Given the description of an element on the screen output the (x, y) to click on. 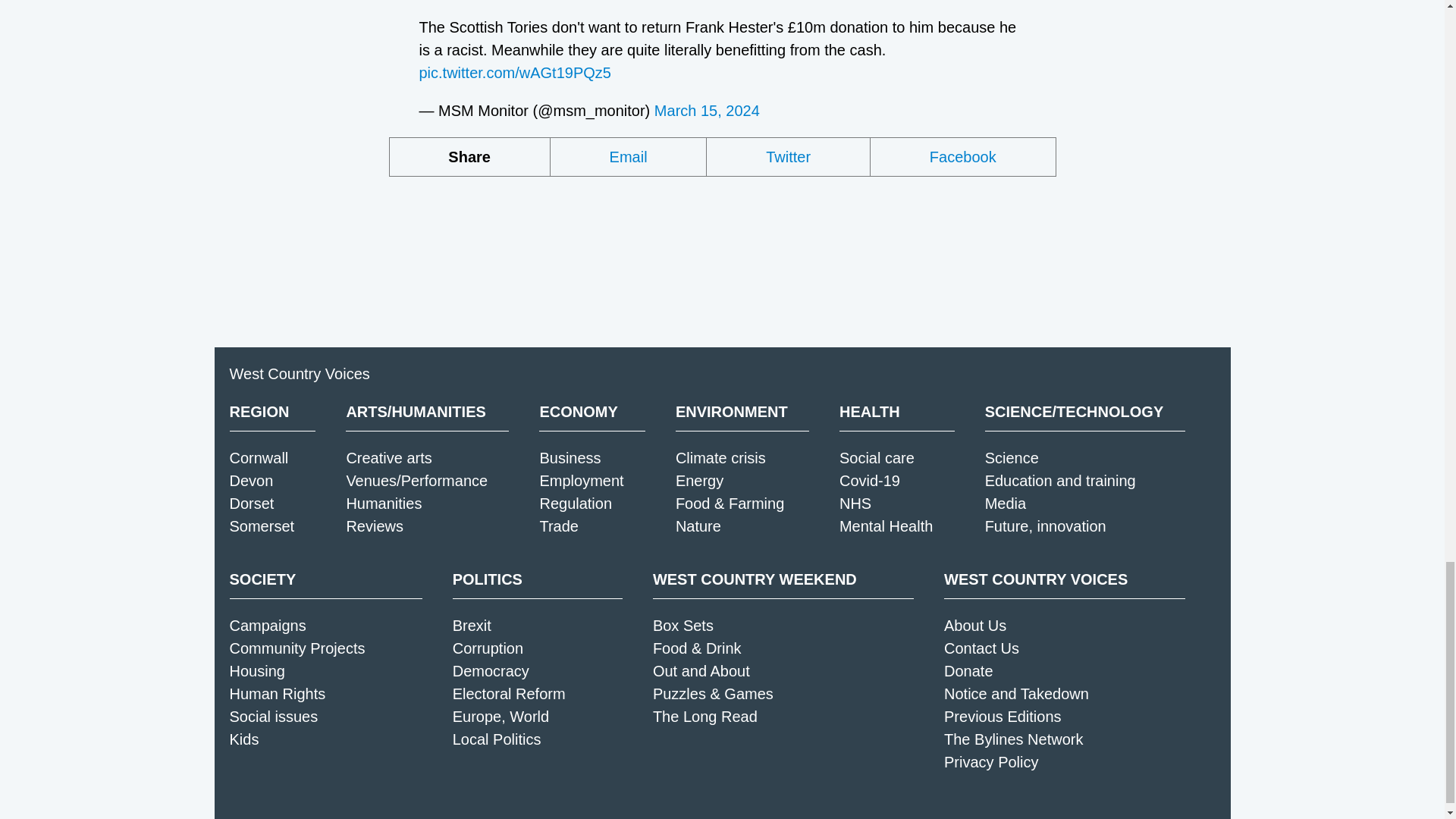
Business (568, 457)
Employment (580, 480)
Regulation (574, 503)
Reviews (374, 525)
Dorset (250, 503)
Trade (558, 525)
REGION (271, 411)
Twitter (788, 157)
ECONOMY (591, 411)
Somerset (261, 525)
March 15, 2024 (706, 110)
Creative arts (388, 457)
Devon (250, 480)
Humanities (384, 503)
Email (628, 157)
